Given the description of an element on the screen output the (x, y) to click on. 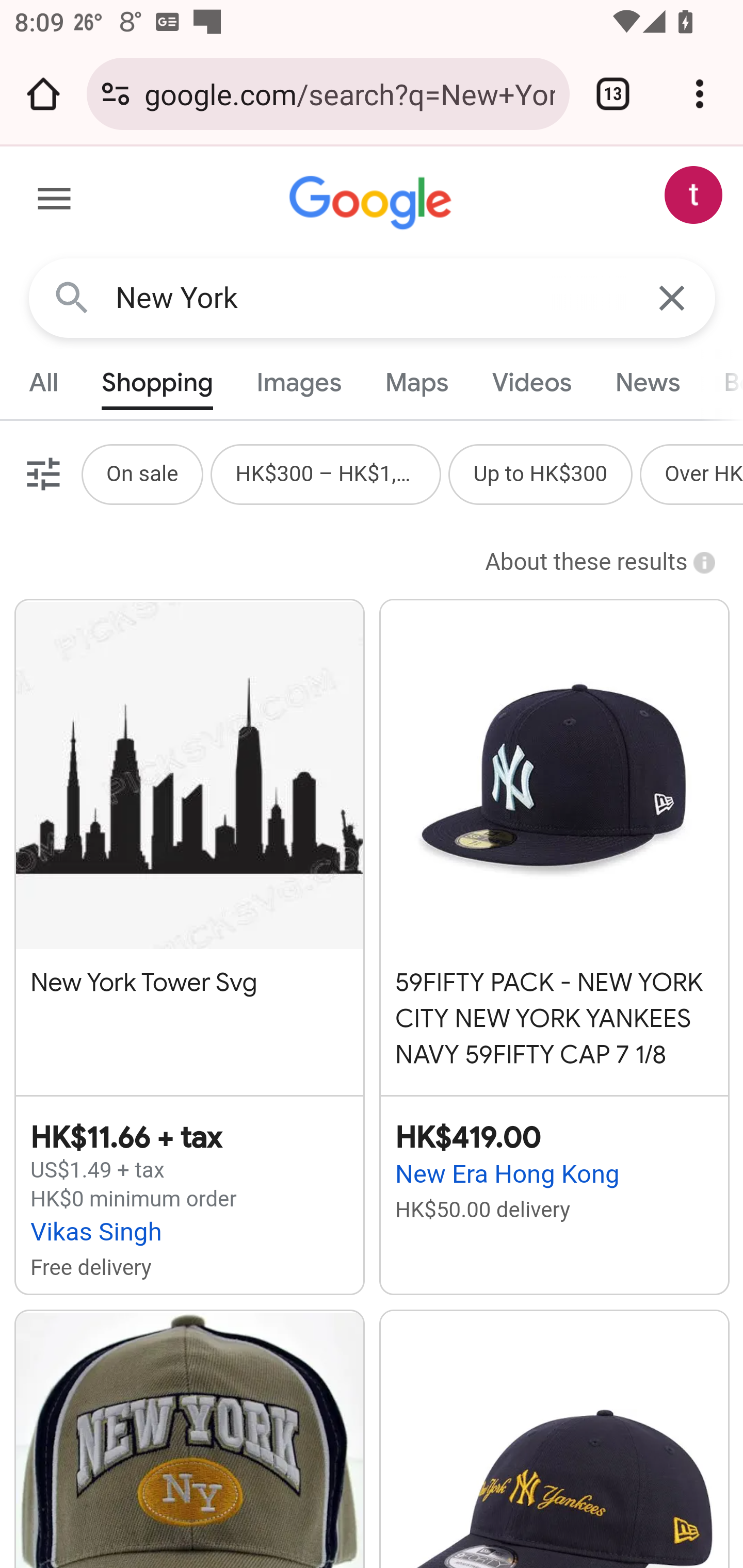
Open the home page (43, 93)
Connection is secure (115, 93)
Switch or close tabs (612, 93)
Customize and control Google Chrome (699, 93)
Main menu (54, 202)
Google (372, 203)
Google Search (71, 296)
Clear Search (672, 296)
New York (372, 297)
All (43, 382)
Images (299, 382)
Maps (416, 382)
Videos (531, 382)
News (647, 382)
Filters.0 filters applied. (41, 473)
On sale (141, 473)
HK$300 – HK$1,000 (325, 473)
Up to HK$300 (540, 473)
New York Tower Svg (189, 836)
NEW YORK CITY TWO TONE NYC CAP HAT TAN (189, 1439)
NEW YORK YANKEES SCRIPT NAVY 9FORTY UNST CAP (553, 1439)
